Given the description of an element on the screen output the (x, y) to click on. 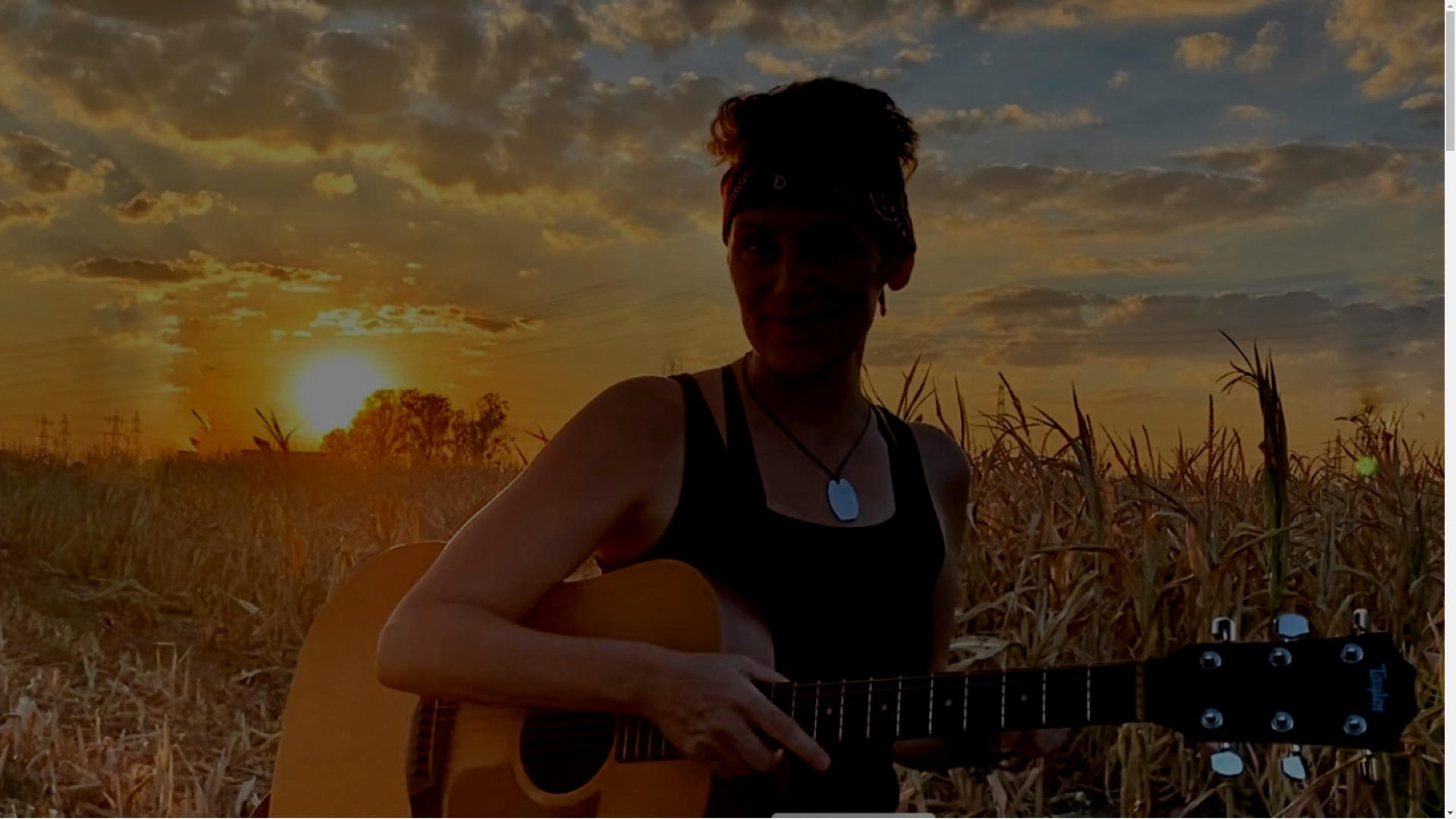
Impressum Element type: text (63, 605)
Startseite Element type: text (58, 630)
Datenschutzbelehrung Element type: text (90, 483)
Impressum Element type: text (63, 497)
BLOG Element type: text (52, 564)
Shop Element type: text (48, 470)
Tabs & Notationen zu YT Videos Element type: text (116, 644)
Datenschutzbelehrung Element type: text (90, 591)
HOME Element type: text (54, 429)
ABOUT ME Element type: text (67, 442)
Zum Inhalt springen Element type: text (55, 12)
HOME Element type: text (54, 536)
Shop Element type: text (48, 577)
ABOUT ME Element type: text (67, 550)
BLOG Element type: text (52, 456)
